Given the description of an element on the screen output the (x, y) to click on. 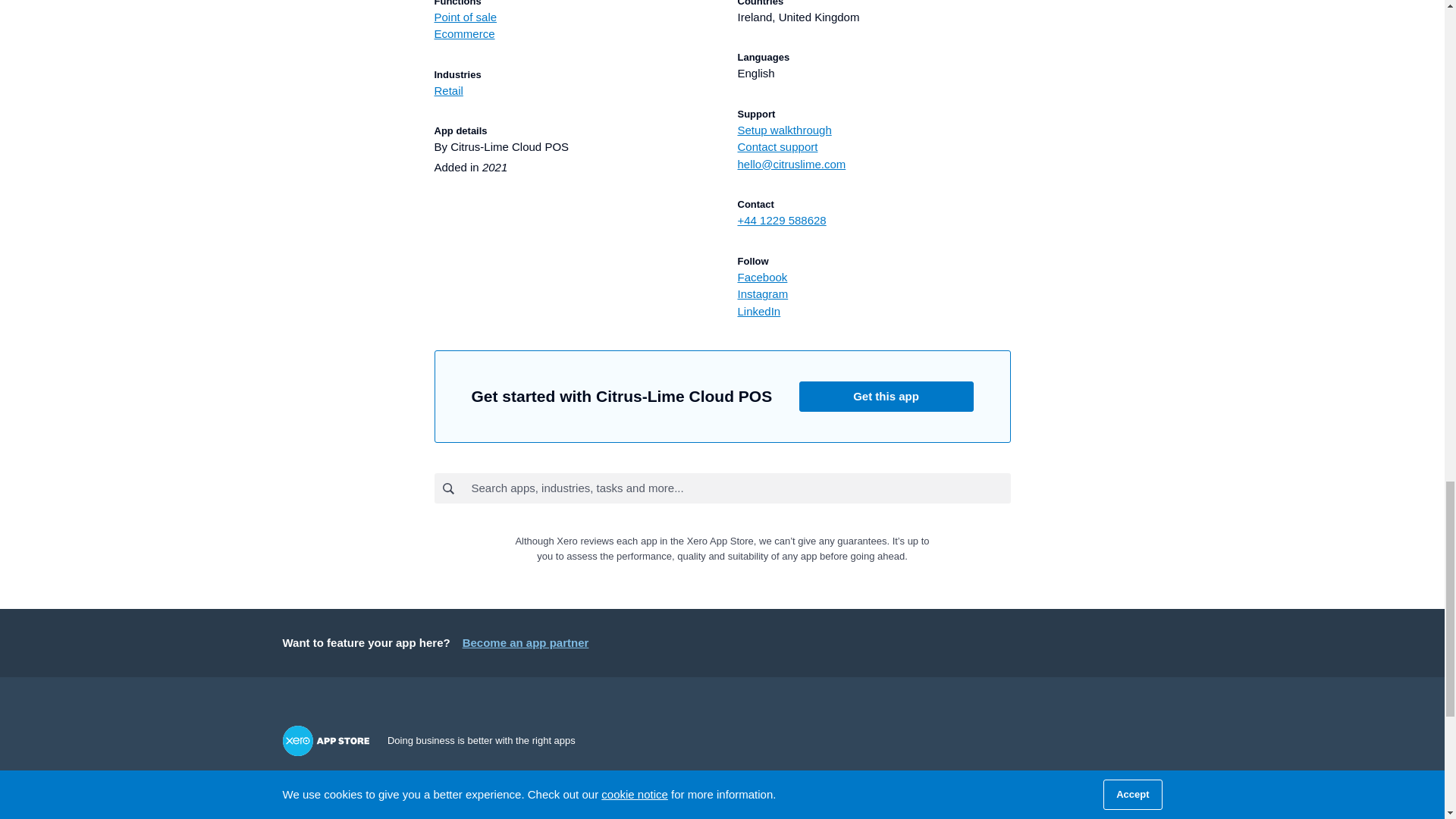
Ecommerce (569, 34)
Facebook (873, 277)
Contact support (873, 147)
Point of sale (569, 17)
Instagram (873, 294)
Setup walkthrough (873, 130)
Retail (569, 90)
Get this app (886, 396)
LinkedIn (873, 312)
Become an app partner (526, 642)
